Given the description of an element on the screen output the (x, y) to click on. 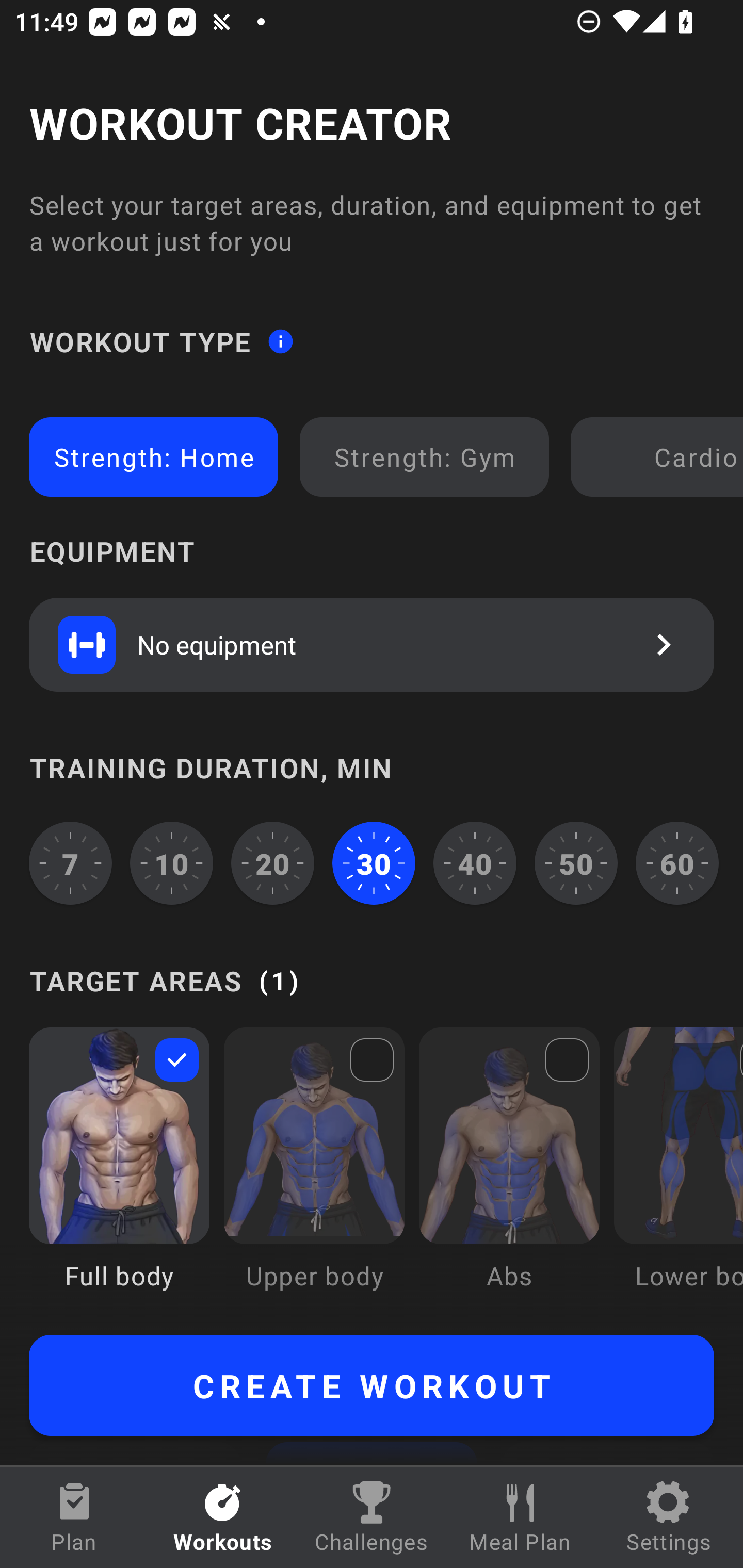
Workout type information button (280, 340)
Strength: Gym (423, 457)
Cardio (660, 457)
No equipment (371, 644)
7 (70, 862)
10 (171, 862)
20 (272, 862)
30 (373, 862)
40 (474, 862)
50 (575, 862)
60 (676, 862)
Upper body (313, 1172)
Abs (509, 1172)
Lower body (678, 1172)
CREATE WORKOUT (371, 1385)
 Plan  (74, 1517)
 Challenges  (371, 1517)
 Meal Plan  (519, 1517)
 Settings  (668, 1517)
